Given the description of an element on the screen output the (x, y) to click on. 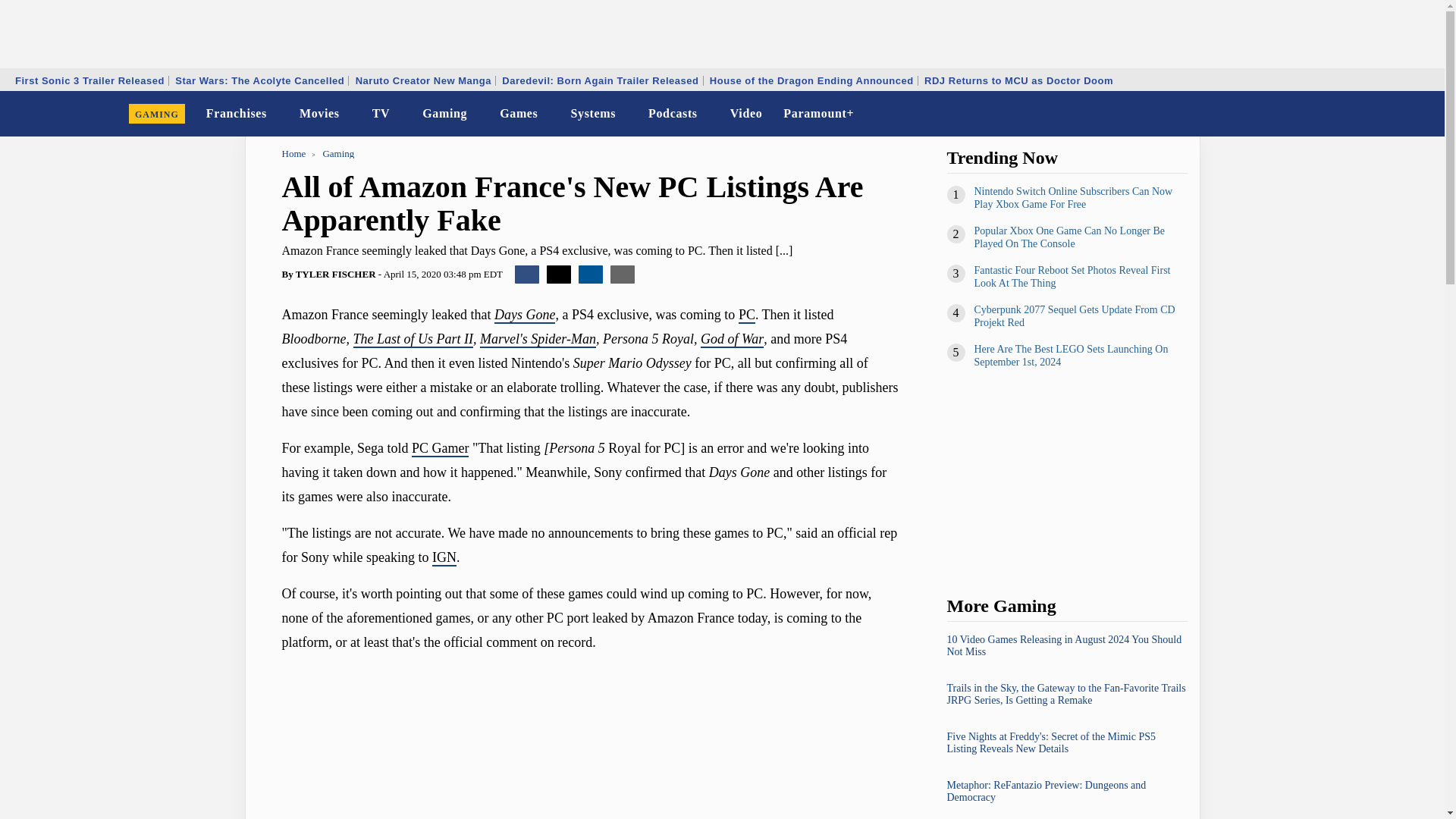
Gaming (444, 113)
GAMING (157, 113)
RDJ Returns to MCU as Doctor Doom (1018, 80)
Star Wars: The Acolyte Cancelled (259, 80)
Dark Mode (1394, 113)
Search (1422, 114)
Daredevil: Born Again Trailer Released (599, 80)
Movies (320, 113)
House of the Dragon Ending Announced (811, 80)
Naruto Creator New Manga (423, 80)
